Given the description of an element on the screen output the (x, y) to click on. 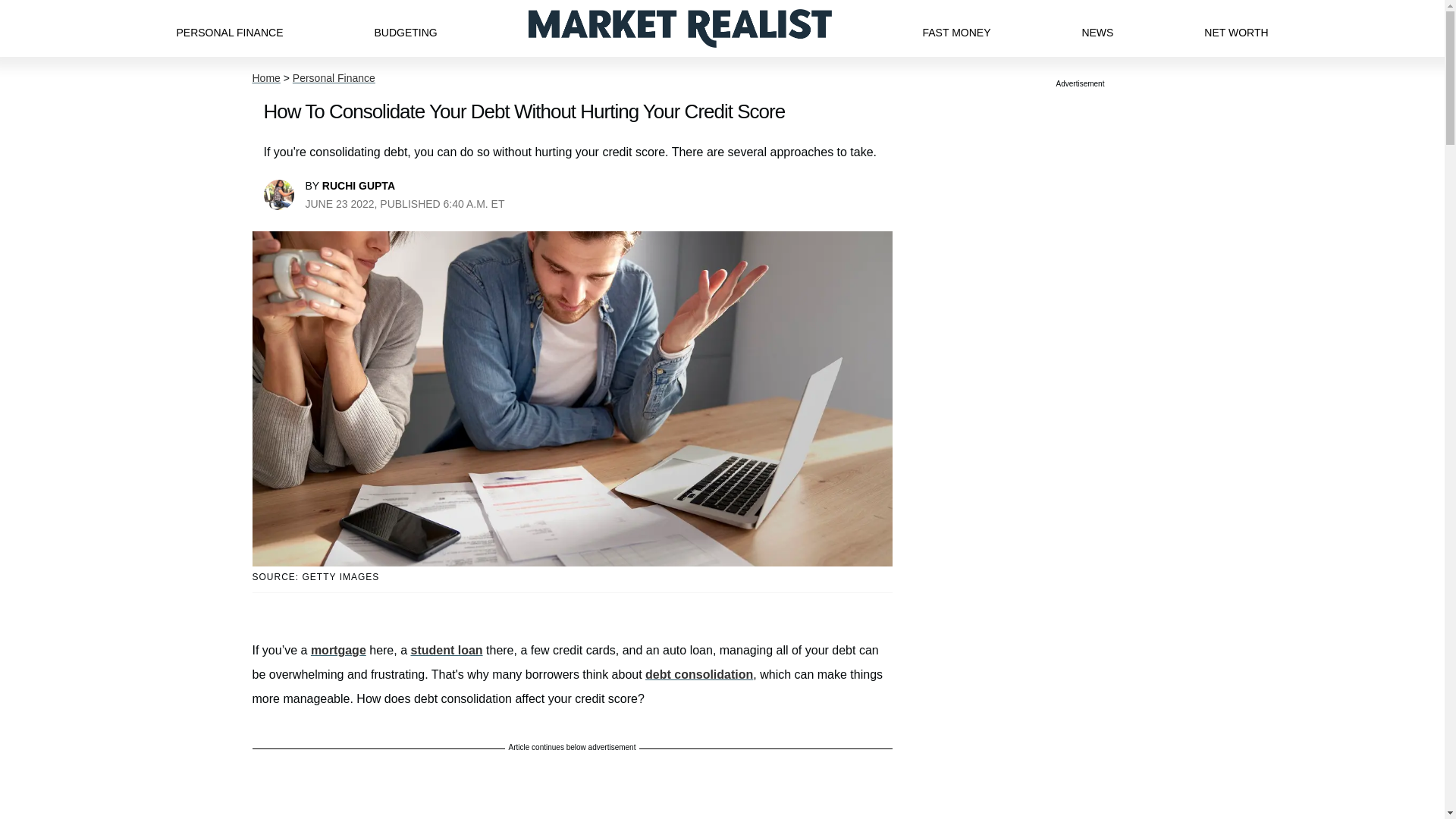
Personal Finance (333, 78)
NEWS (1097, 27)
NET WORTH (1236, 27)
student loan (445, 649)
debt consolidation (698, 674)
mortgage (338, 649)
FAST MONEY (955, 27)
BUDGETING (405, 27)
PERSONAL FINANCE (229, 27)
Home (265, 78)
